Given the description of an element on the screen output the (x, y) to click on. 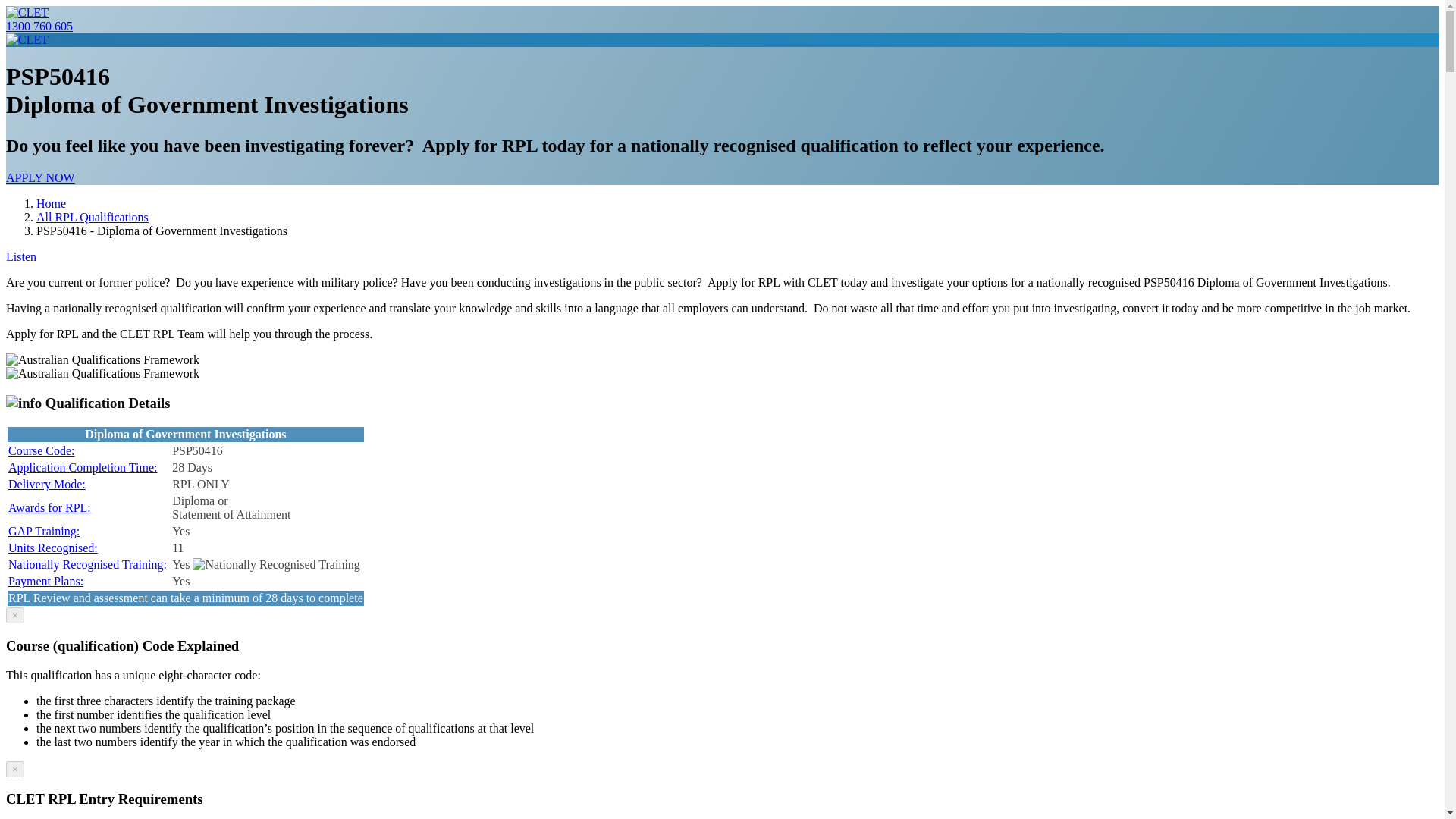
CLET (26, 11)
1300 760 605 (38, 25)
CLET (26, 39)
Listen to this page using ReadSpeaker (20, 256)
